Given the description of an element on the screen output the (x, y) to click on. 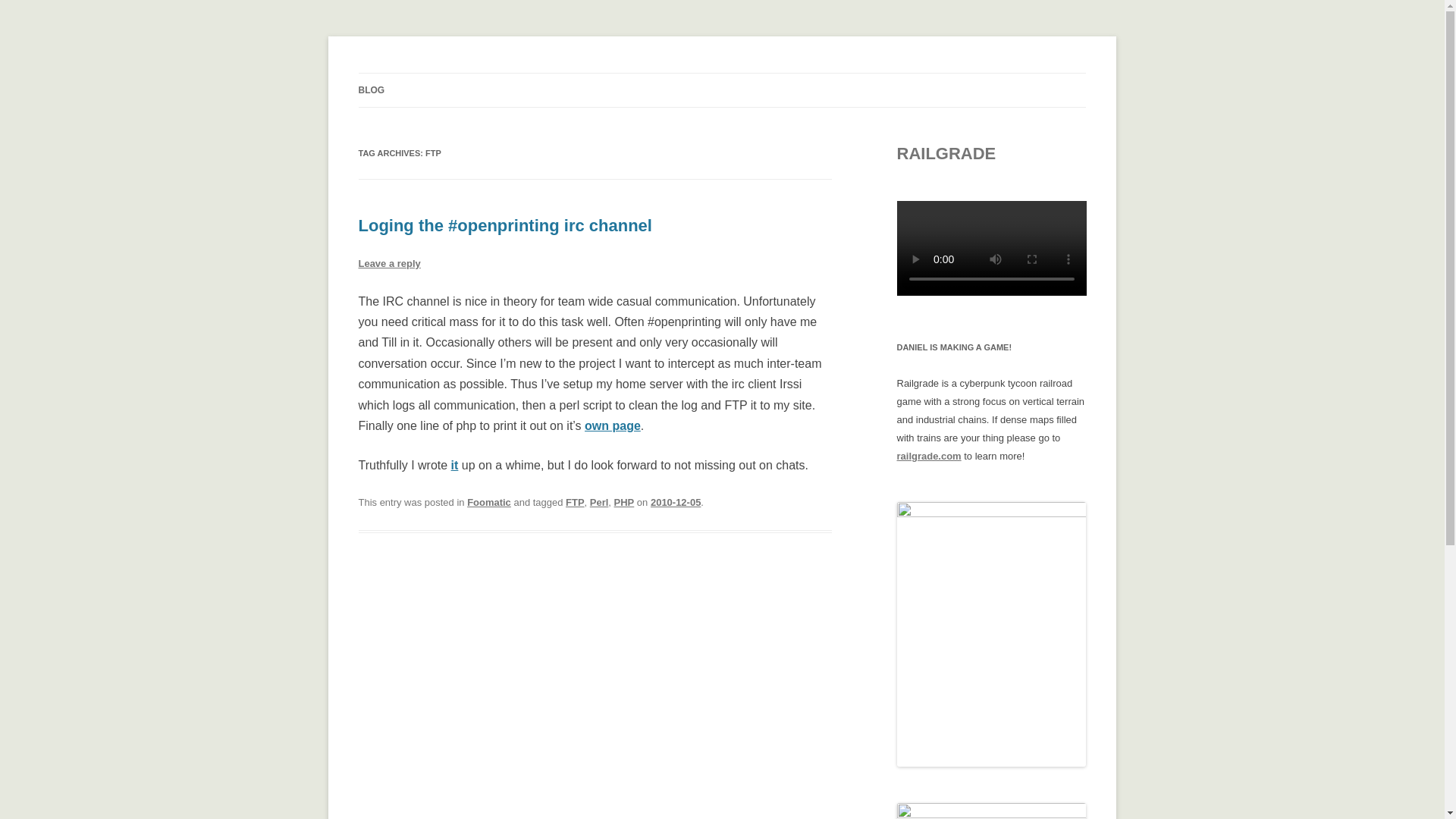
own page (612, 425)
Perl (598, 501)
Daniel (387, 72)
RAILGRADE (945, 153)
2010-12-05 (675, 501)
PHP (624, 501)
railgrade.com (928, 455)
06:03 (675, 501)
Foomatic (489, 501)
